Given the description of an element on the screen output the (x, y) to click on. 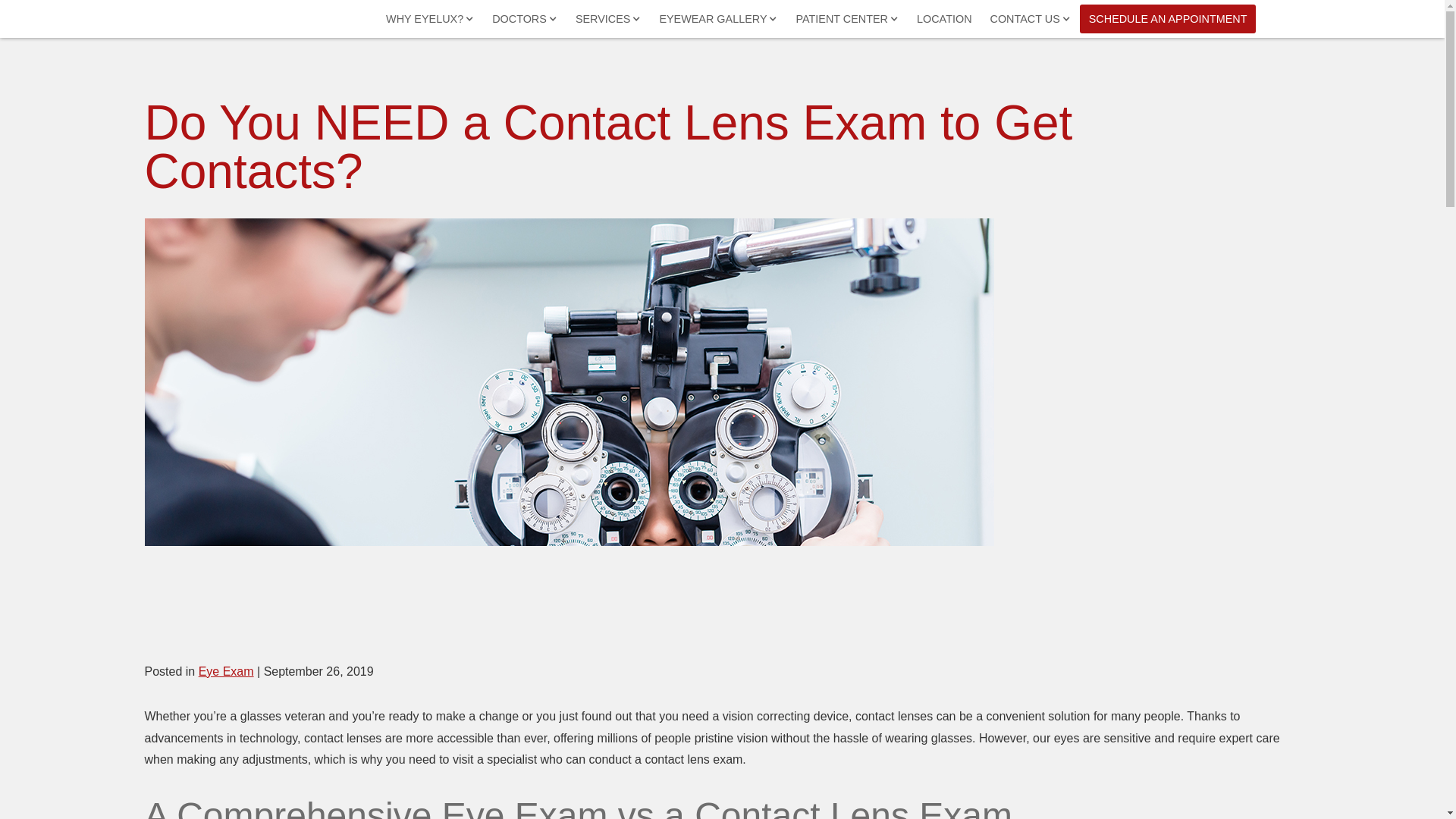
SCHEDULE AN APPOINTMENT (1168, 18)
EYEWEAR GALLERY (717, 18)
Why EyeLux? (430, 18)
Eyewear Gallery (717, 18)
Patient Center (846, 18)
LOCATION (944, 18)
DOCTORS (524, 18)
Eye Exam (225, 671)
WHY EYELUX? (430, 18)
CONTACT US (1030, 18)
